Given the description of an element on the screen output the (x, y) to click on. 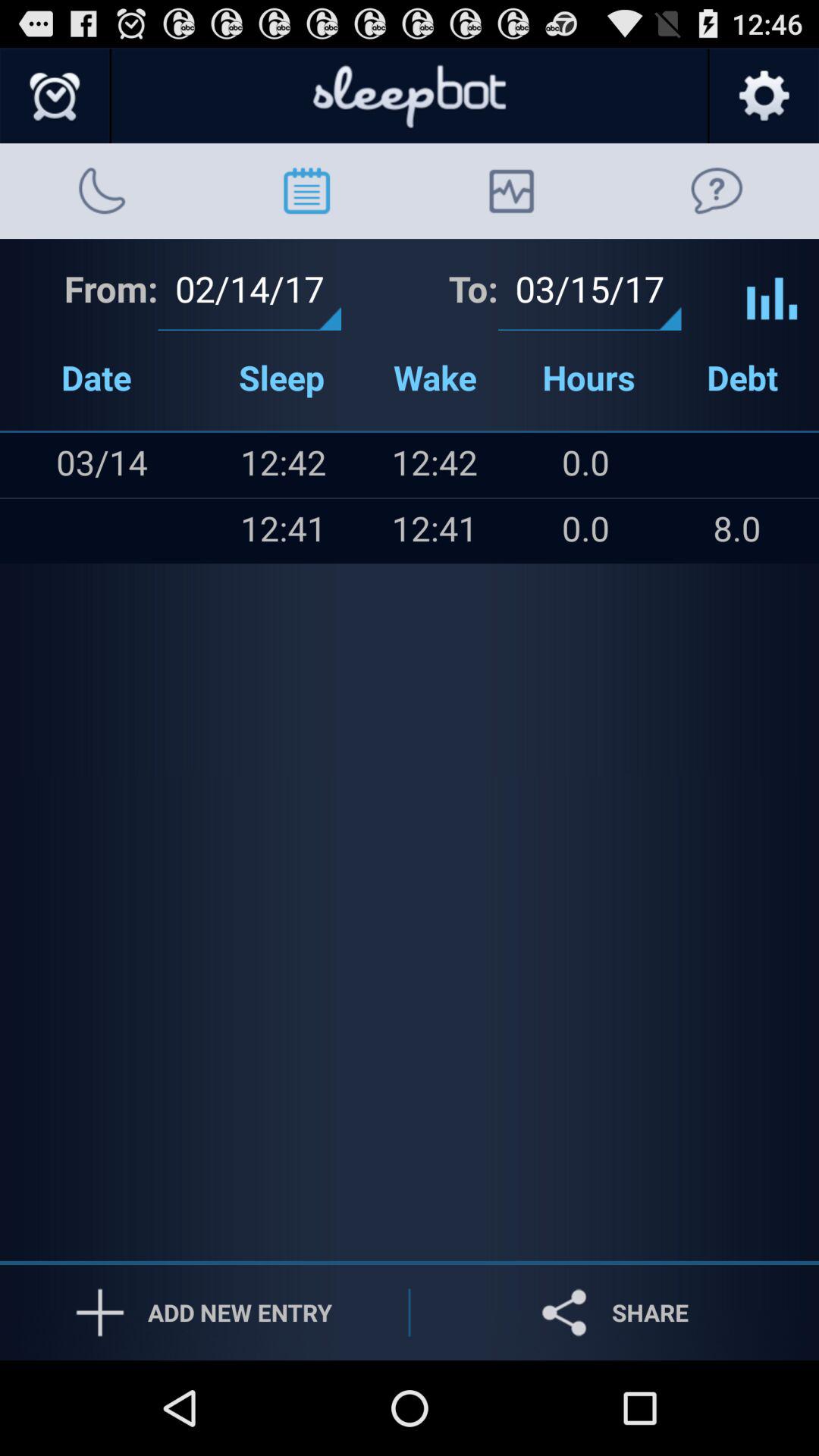
turn on the item above the   icon (31, 465)
